Given the description of an element on the screen output the (x, y) to click on. 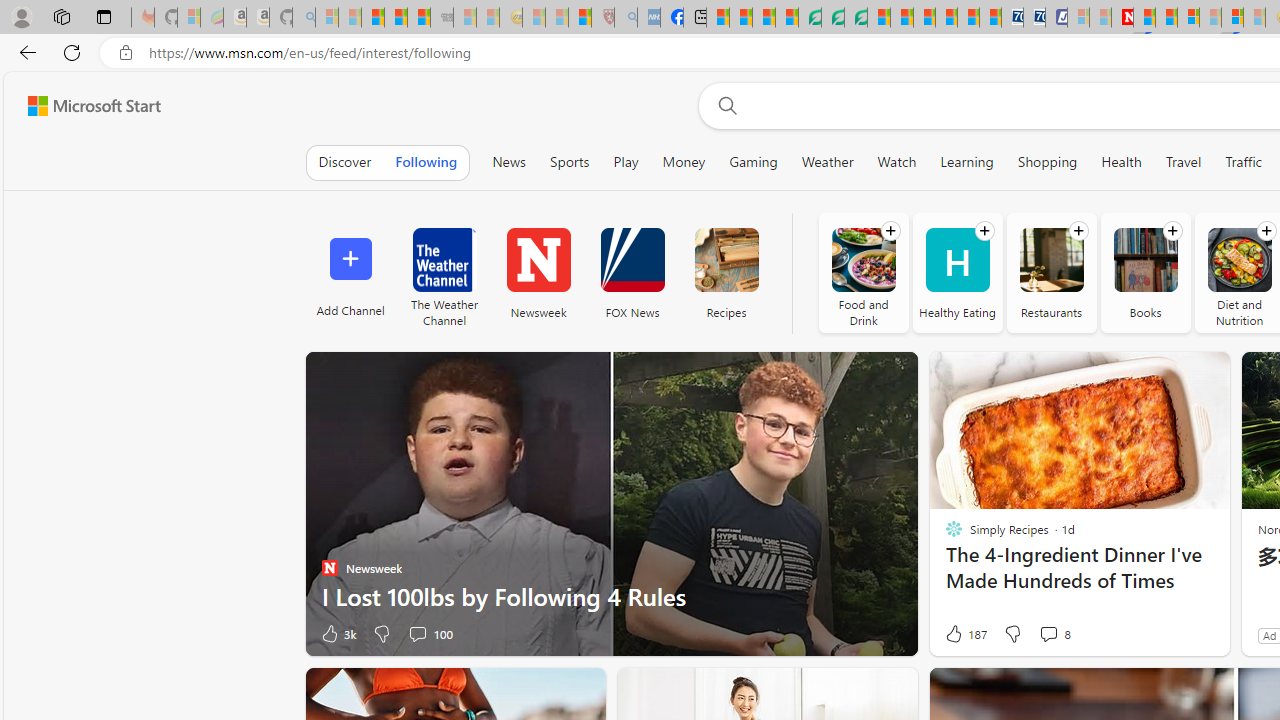
Gaming (753, 161)
FOX News (632, 272)
Health (1121, 162)
The Weather Channel - MSN (372, 17)
Play (626, 162)
Follow channel (1266, 231)
